Given the description of an element on the screen output the (x, y) to click on. 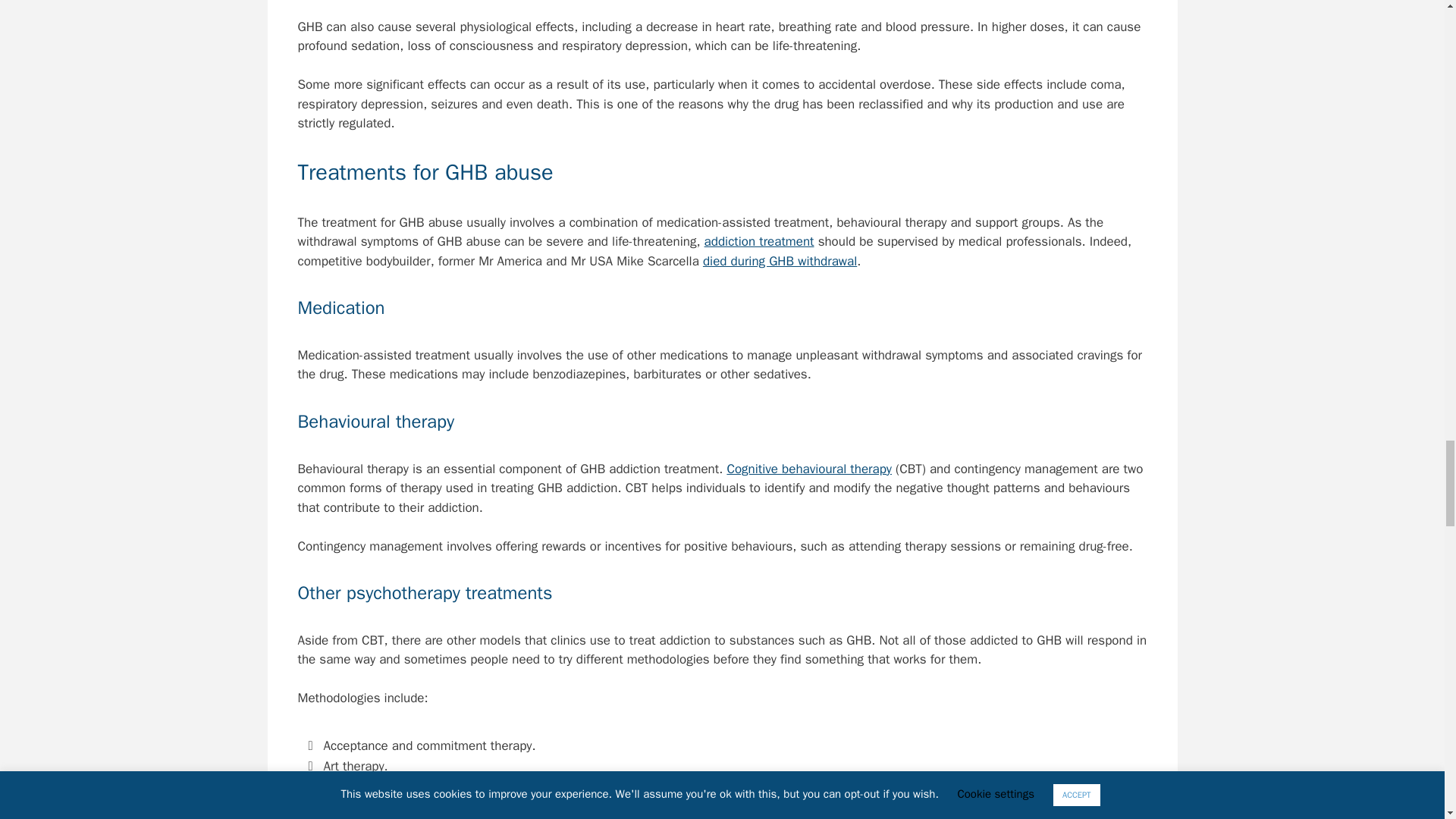
died during GHB withdrawal (780, 261)
addiction treatment (758, 241)
